Given the description of an element on the screen output the (x, y) to click on. 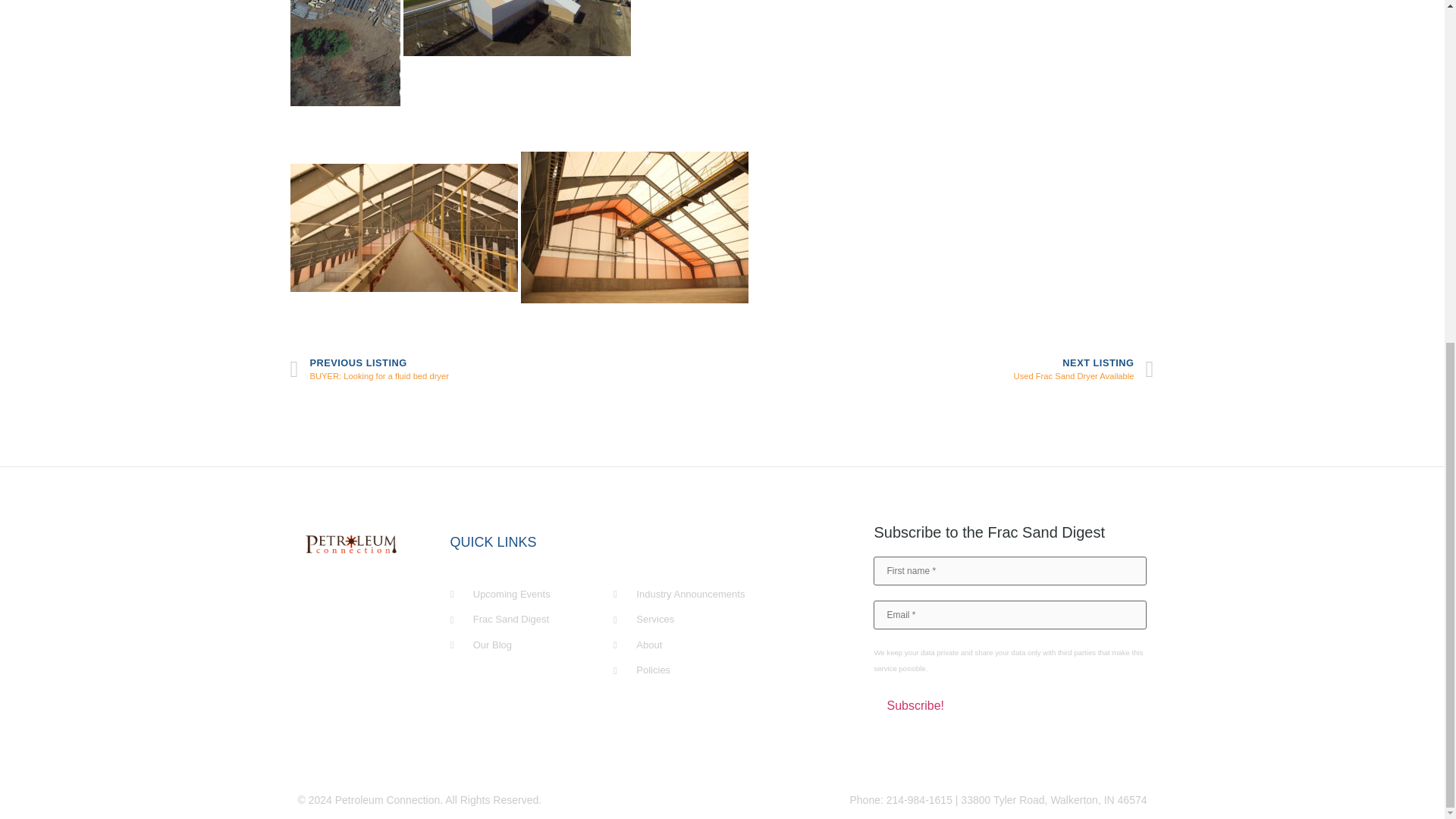
Subscribe! (914, 705)
First name (505, 369)
Email (1010, 570)
